Given the description of an element on the screen output the (x, y) to click on. 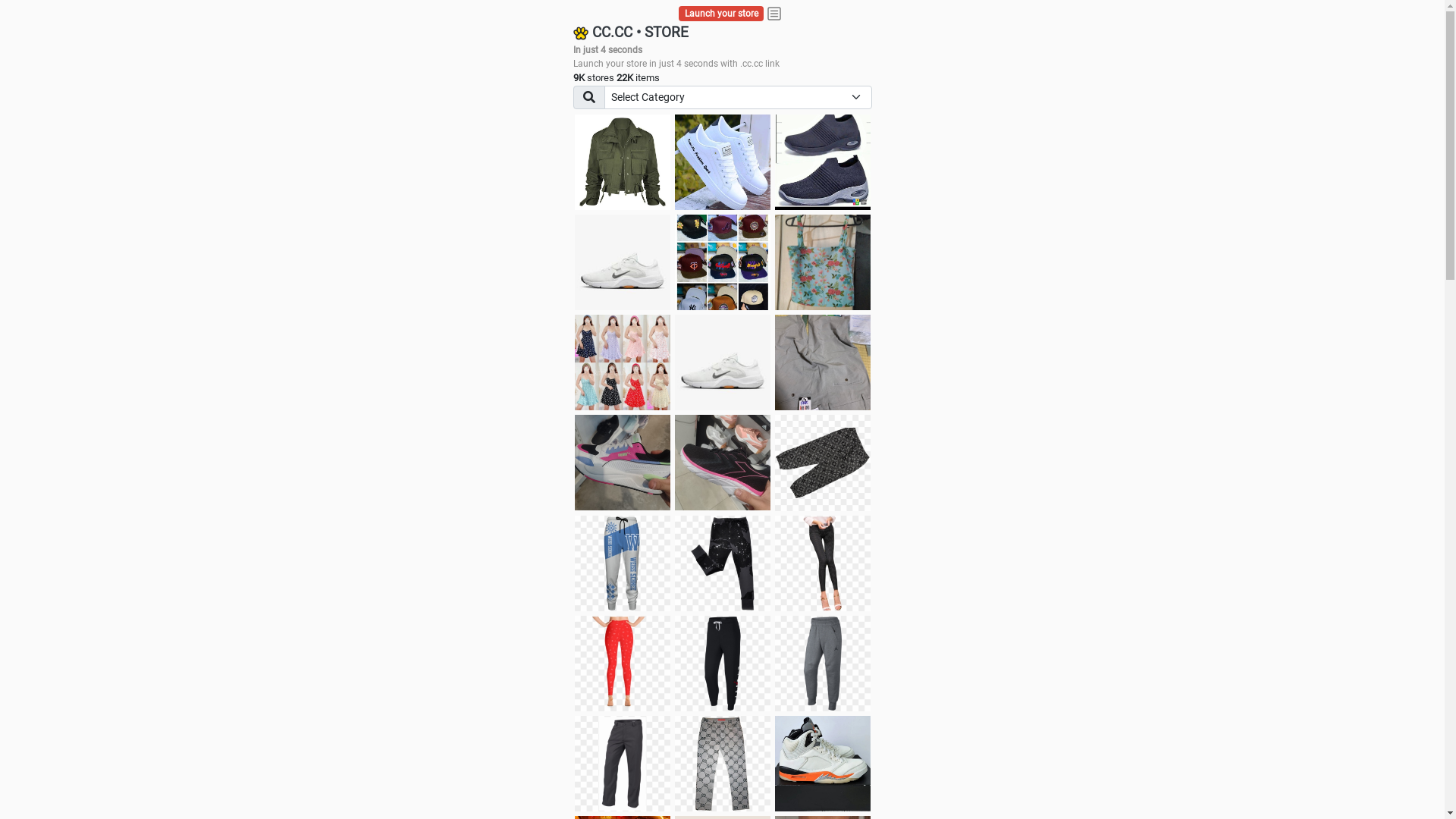
Pant Element type: hover (722, 563)
Shoe Element type: hover (822, 763)
Launch your store Element type: text (721, 13)
Shoes Element type: hover (722, 362)
Pant Element type: hover (822, 563)
Pant Element type: hover (722, 763)
Zapatillas pumas Element type: hover (622, 462)
shoes for boys Element type: hover (822, 162)
Pant Element type: hover (822, 663)
Pant Element type: hover (622, 563)
jacket Element type: hover (622, 162)
Zapatillas Element type: hover (722, 462)
white shoes Element type: hover (722, 162)
Short pant Element type: hover (822, 462)
Pant Element type: hover (622, 663)
Things we need Element type: hover (722, 262)
Dress/square nect top Element type: hover (622, 362)
Ukay cloth Element type: hover (822, 262)
Pant Element type: hover (622, 763)
Shoes for boys Element type: hover (622, 262)
Pant Element type: hover (722, 663)
